Given the description of an element on the screen output the (x, y) to click on. 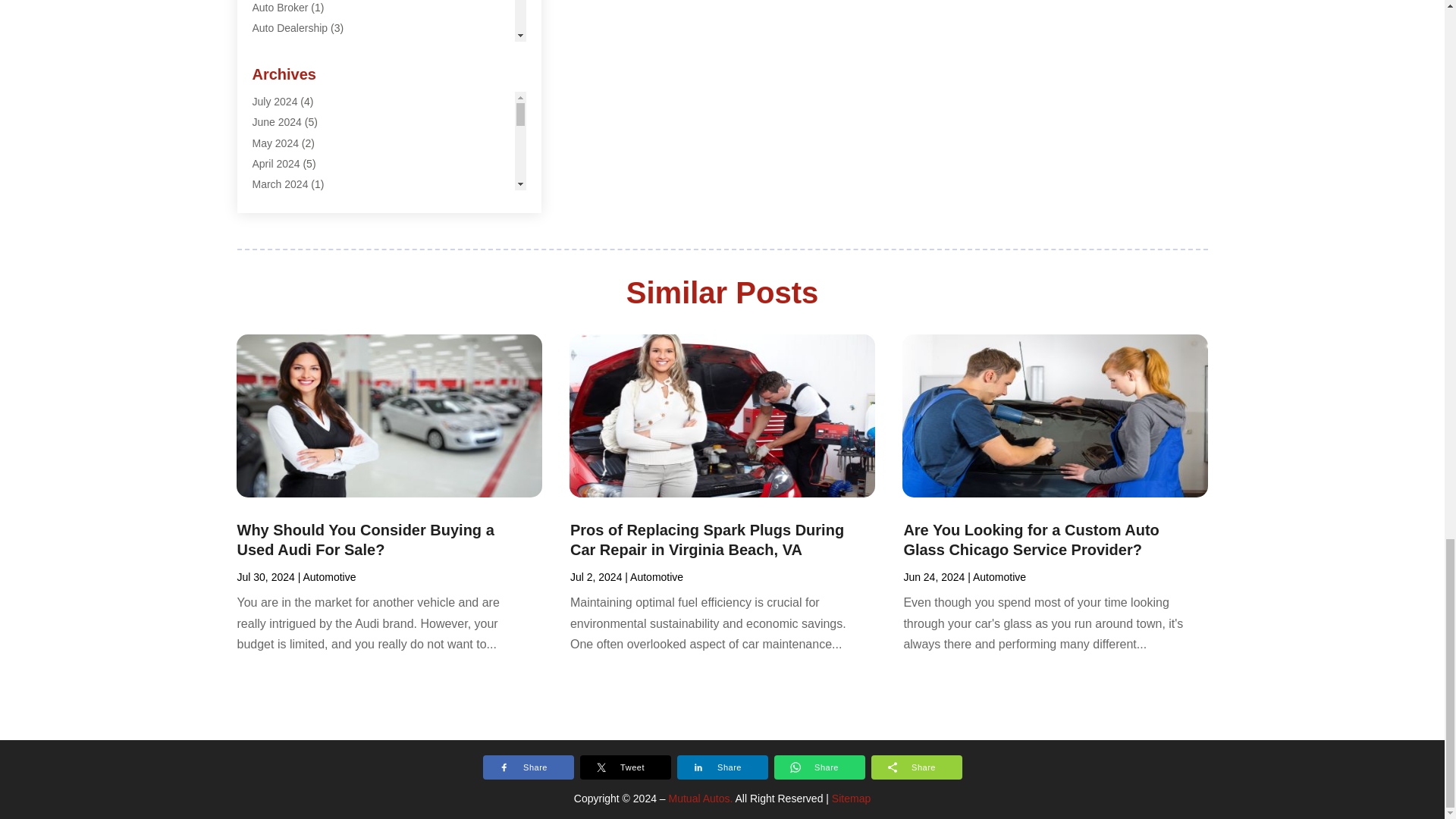
Auto Glass (276, 48)
Auto Broker (279, 7)
Auto Dealership (289, 28)
